Given the description of an element on the screen output the (x, y) to click on. 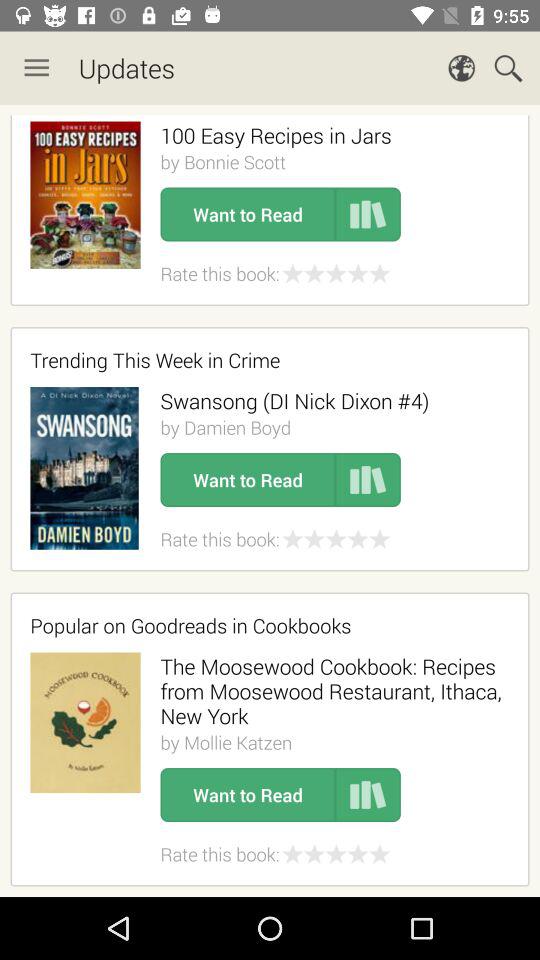
select the item above the want to read (225, 427)
